Given the description of an element on the screen output the (x, y) to click on. 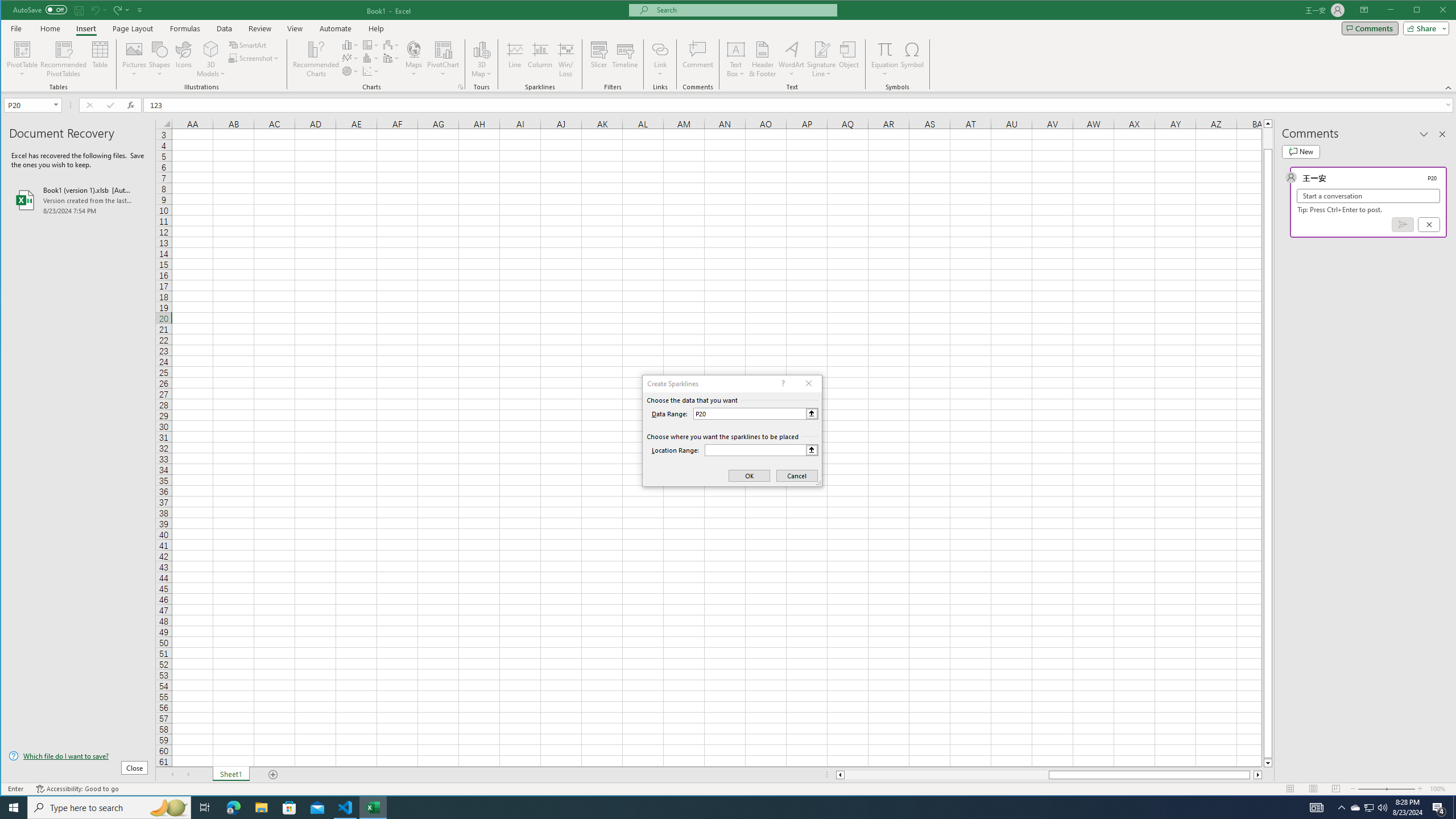
PivotTable (22, 59)
Equation (884, 48)
Insert Hierarchy Chart (371, 44)
3D Map (481, 59)
Text Box (735, 59)
Insert Line or Area Chart (350, 57)
Maps (413, 59)
Post comment (Ctrl + Enter) (1402, 224)
